Given the description of an element on the screen output the (x, y) to click on. 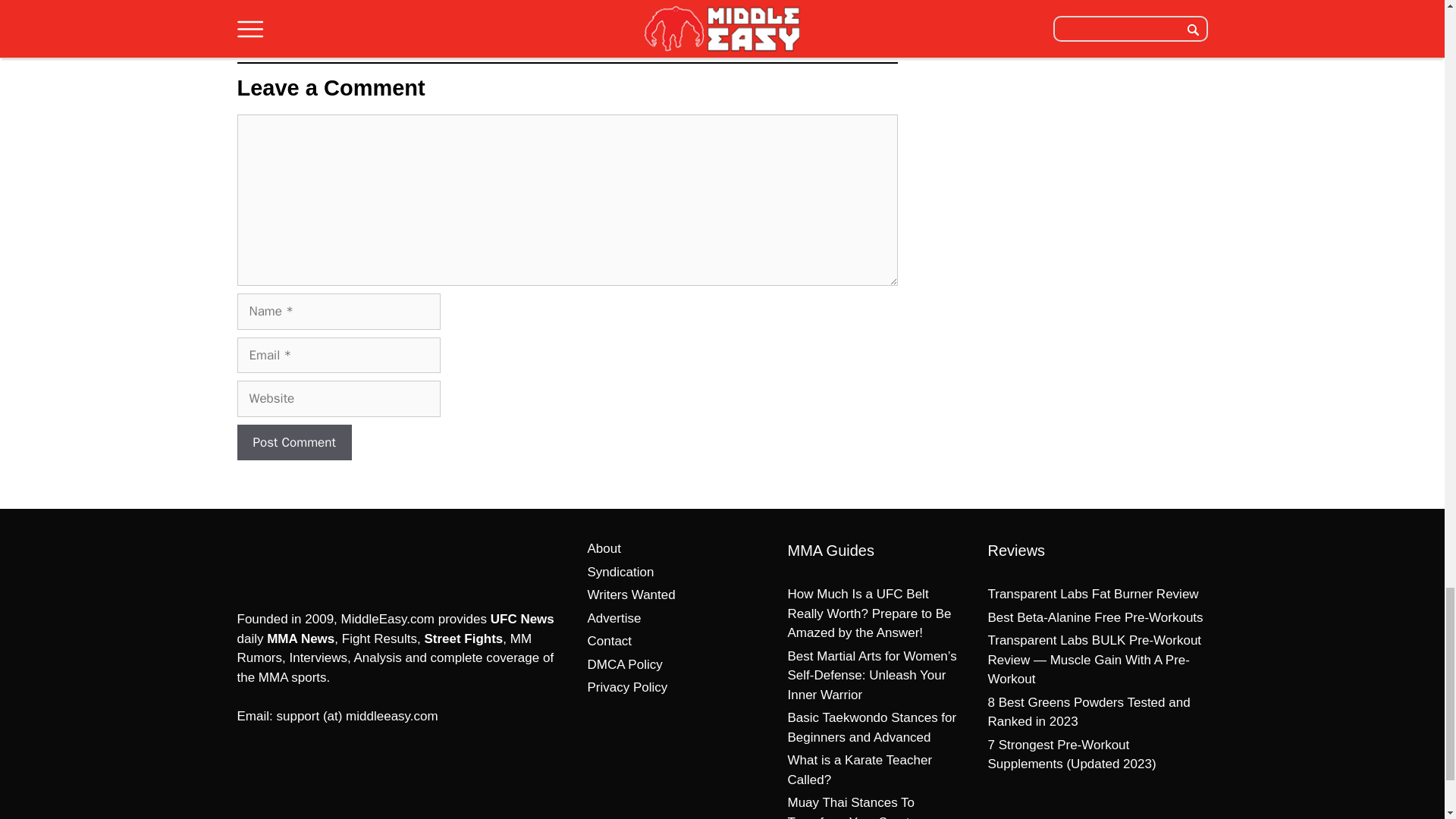
Post Comment (292, 443)
MiddlEeasy: MMA News (314, 561)
